Given the description of an element on the screen output the (x, y) to click on. 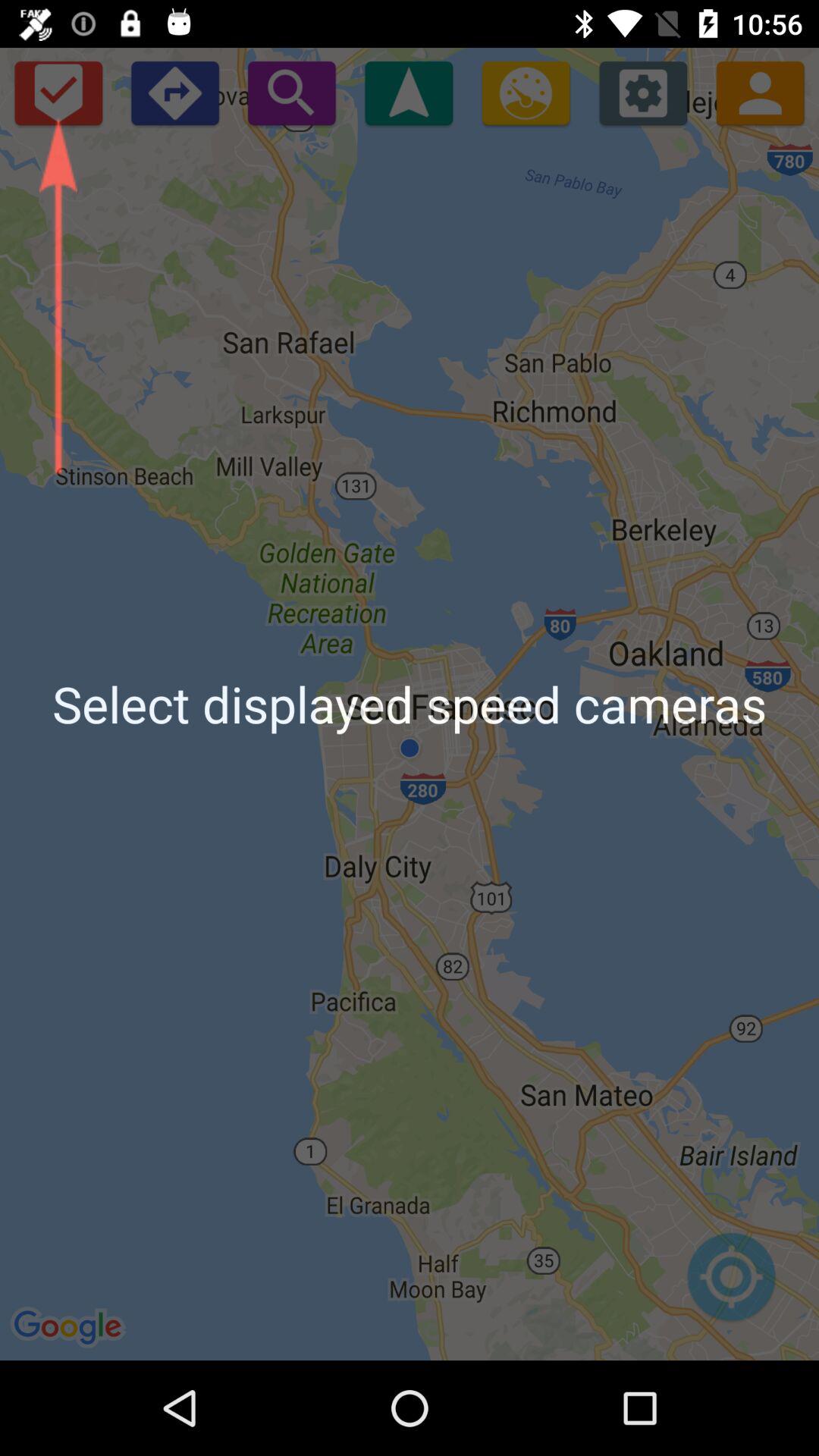
tap the item above the select displayed speed icon (291, 92)
